Given the description of an element on the screen output the (x, y) to click on. 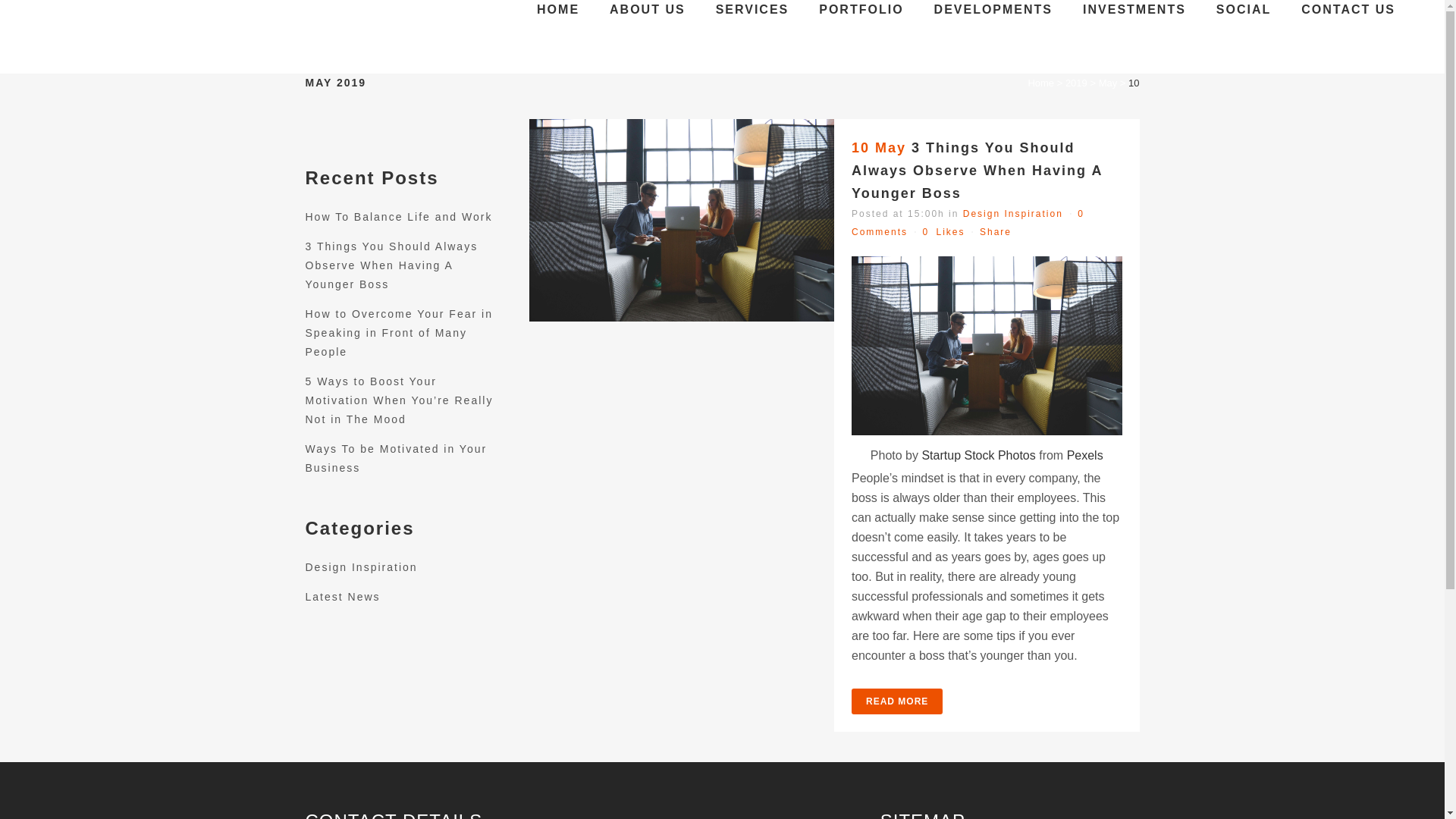
Like this (942, 231)
Share (995, 231)
0 Comments (967, 222)
DEVELOPMENTS (992, 9)
Home (1040, 82)
SERVICES (752, 9)
INVESTMENTS (1134, 9)
ABOUT US (647, 9)
Latest News (342, 596)
SOCIAL (1243, 9)
Ways To be Motivated in Your Business (395, 458)
May (1108, 82)
